Given the description of an element on the screen output the (x, y) to click on. 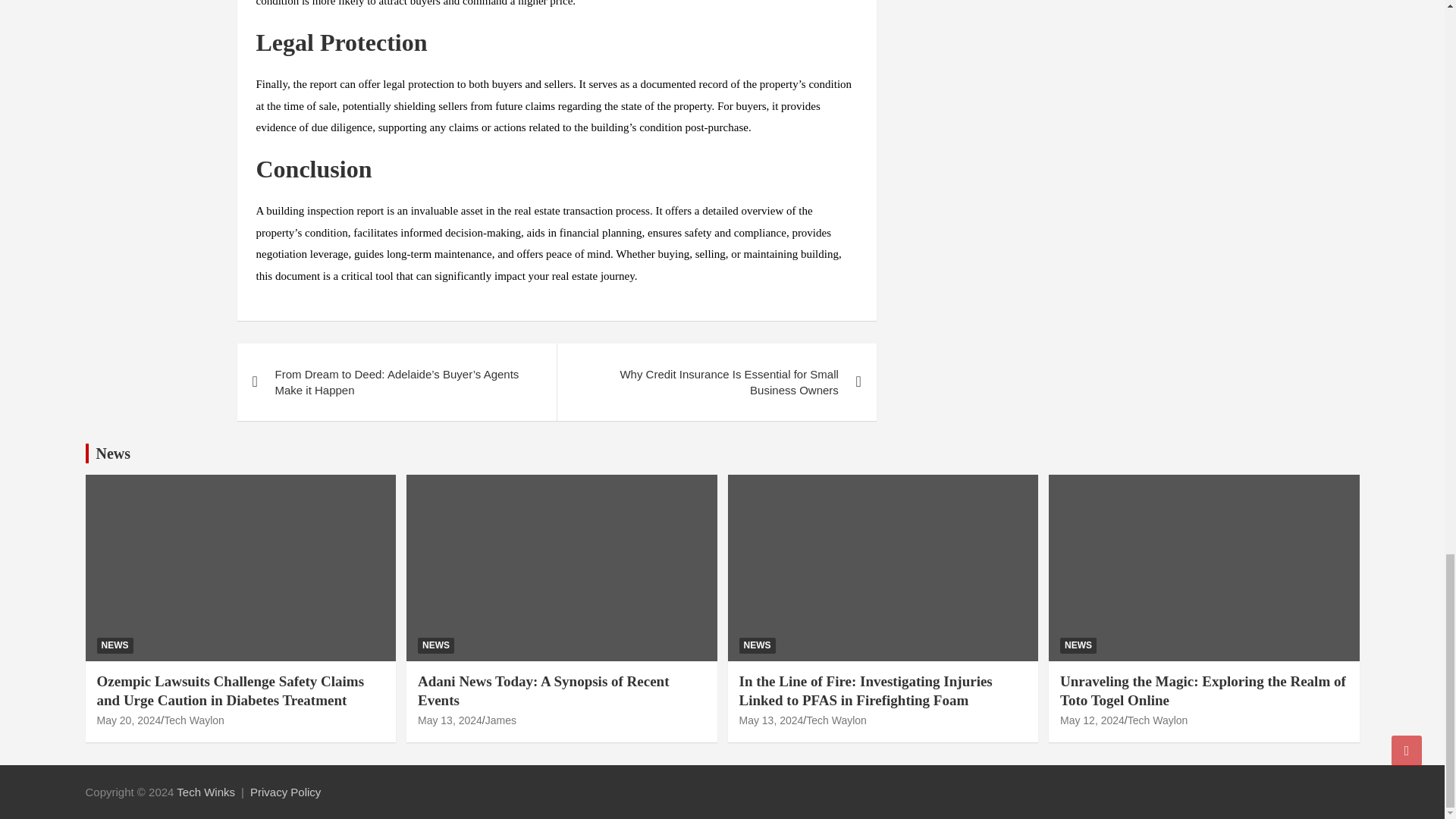
NEWS (115, 645)
James (500, 720)
Adani News Today: A Synopsis of Recent Events (543, 690)
May 20, 2024 (129, 720)
Tech Winks (205, 791)
Tech Waylon (193, 720)
